Given the description of an element on the screen output the (x, y) to click on. 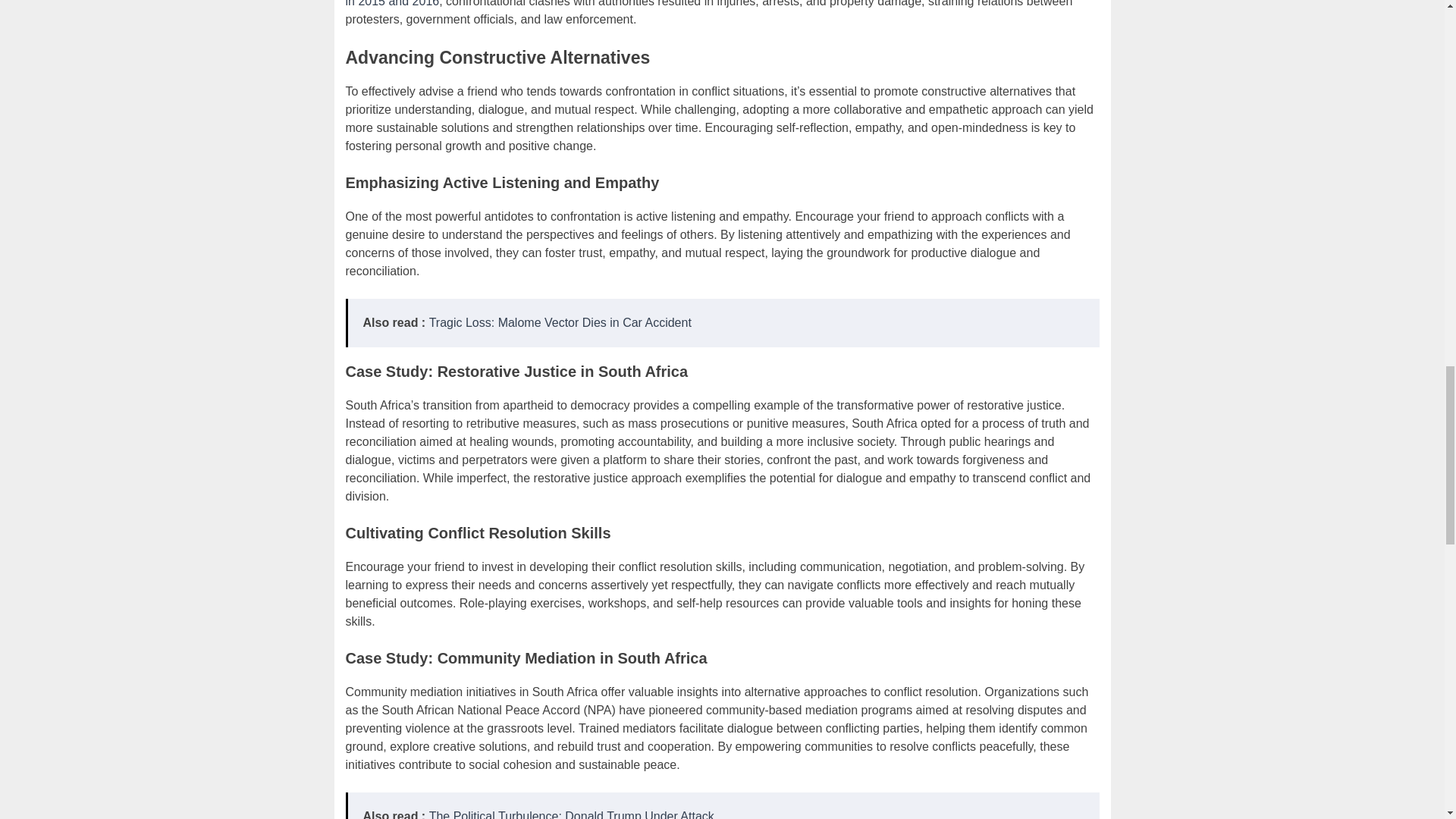
The Political Turbulence: Donald Trump Under Attack (571, 814)
Tragic Loss: Malome Vector Dies in Car Accident (560, 322)
